Given the description of an element on the screen output the (x, y) to click on. 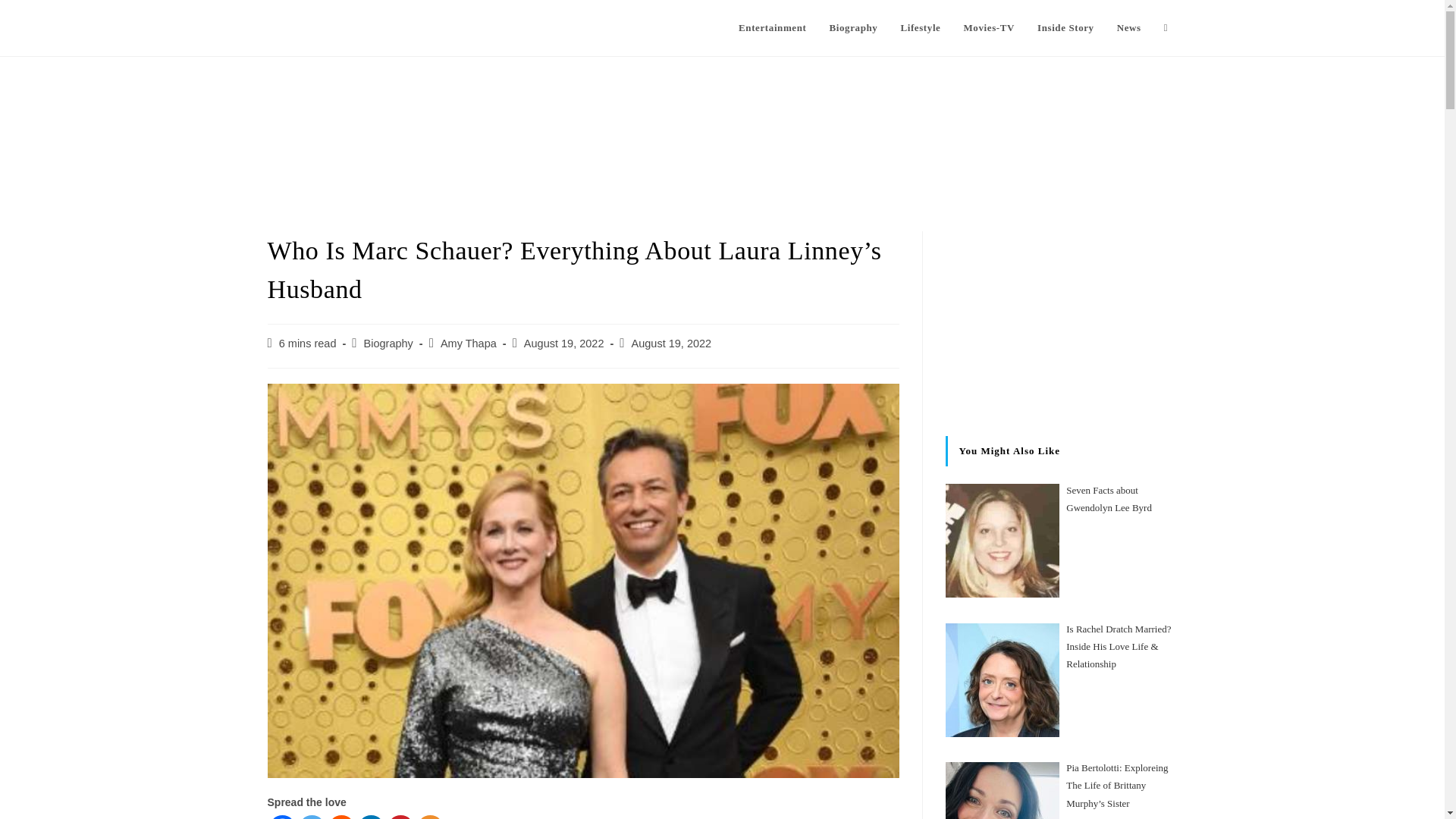
Pinterest (400, 816)
Movies-TV (989, 28)
More (430, 816)
CelebSuburb (317, 26)
Biography (388, 343)
Inside Story (1065, 28)
Twitter (311, 816)
Facebook (281, 816)
Entertainment (771, 28)
Linkedin (371, 816)
